Given the description of an element on the screen output the (x, y) to click on. 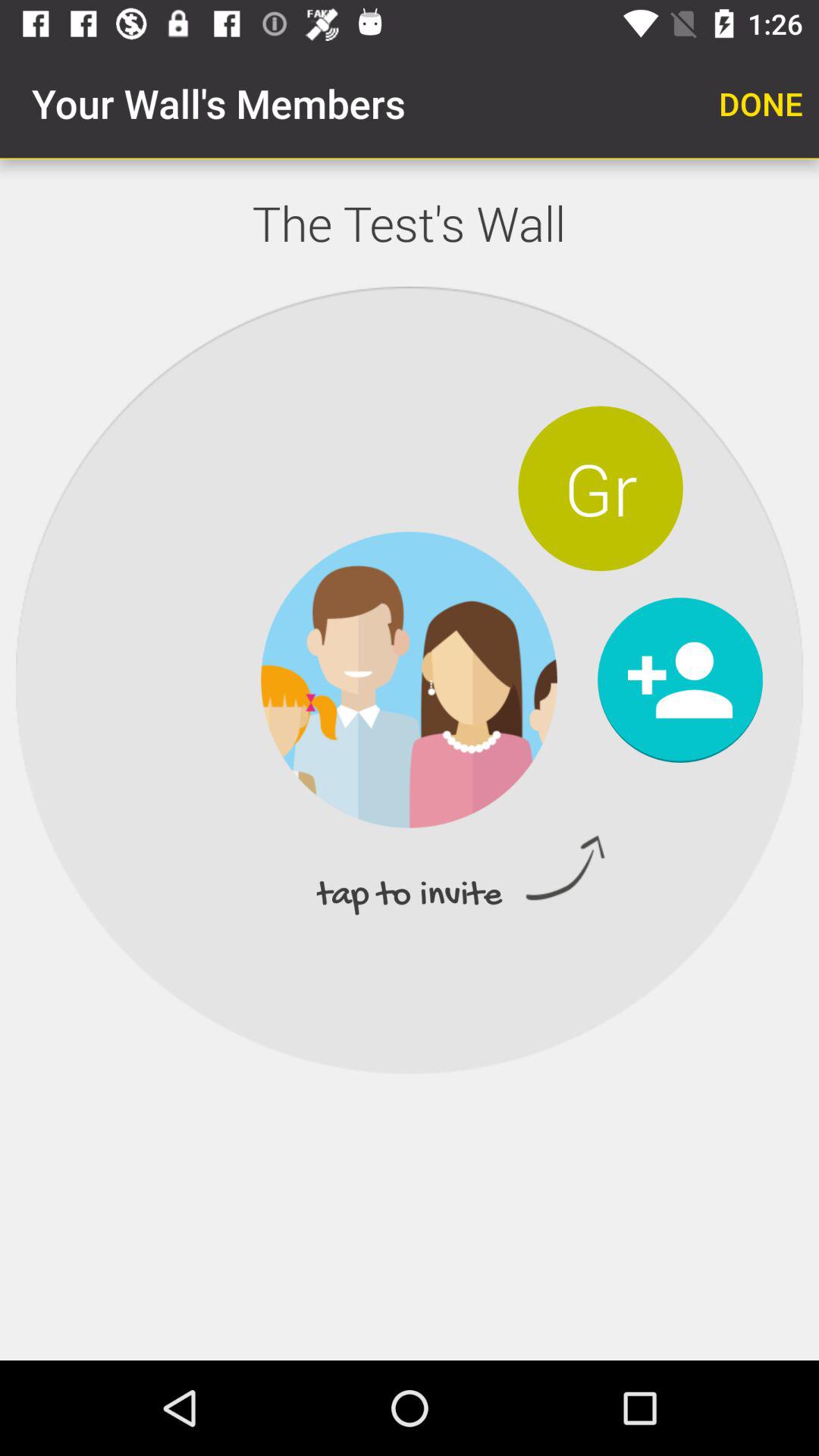
tap to invite (679, 679)
